Given the description of an element on the screen output the (x, y) to click on. 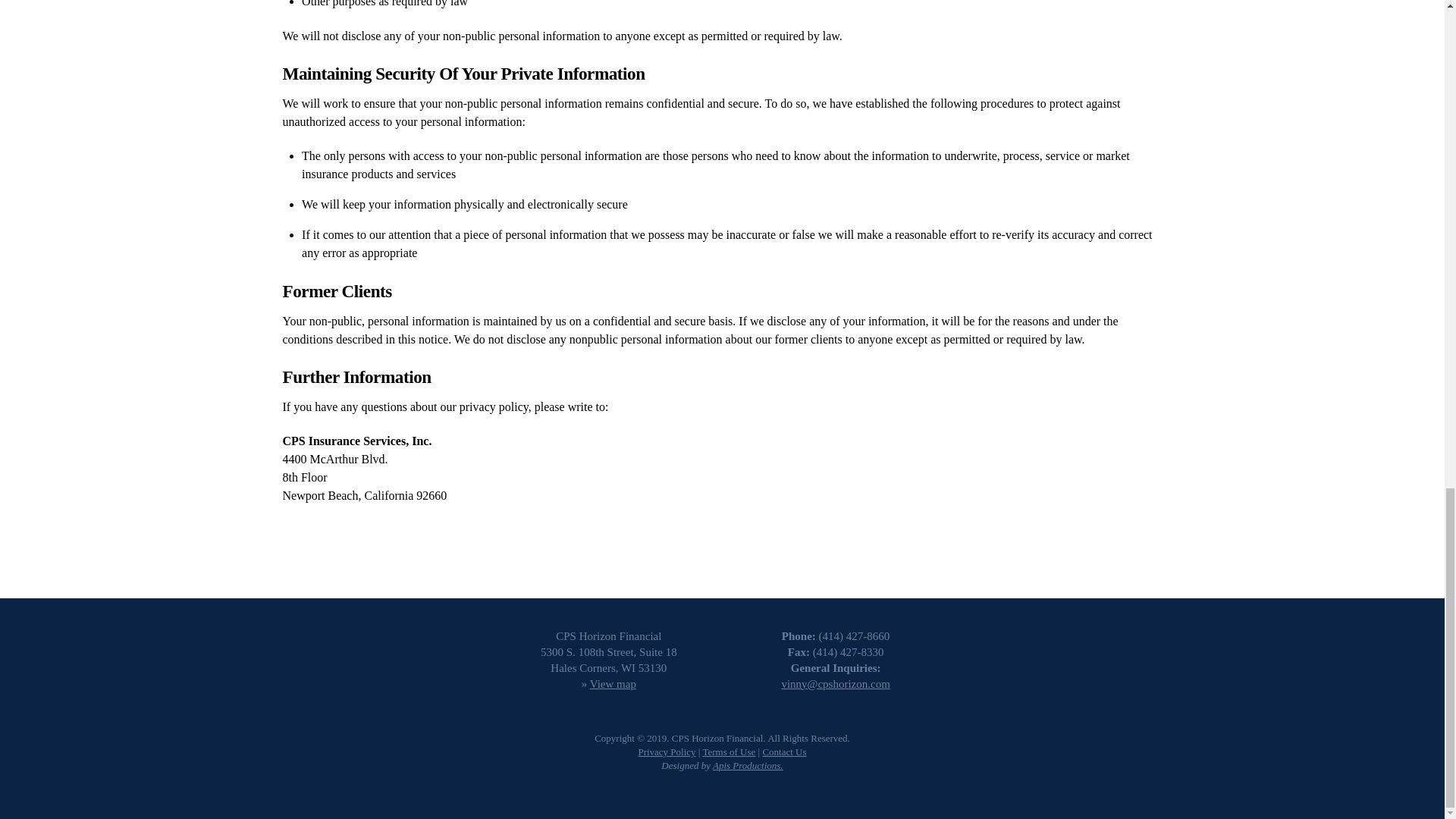
Privacy Policy (666, 751)
View map (612, 683)
Contact Us (783, 751)
Terms of Use (728, 751)
Apis Productions. (748, 765)
